Given the description of an element on the screen output the (x, y) to click on. 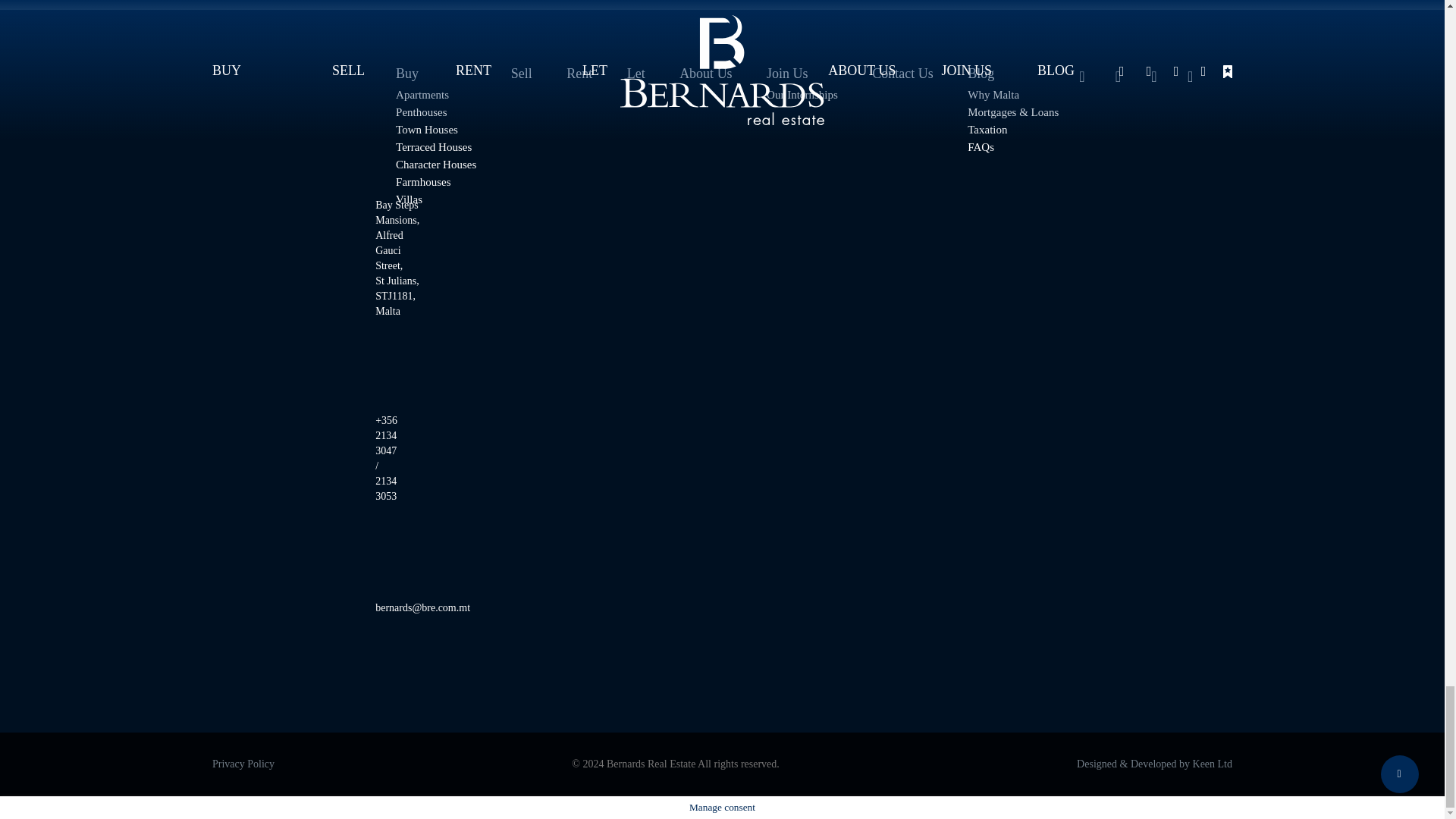
Apartments (436, 94)
Town Houses (436, 129)
Penthouses (436, 112)
Buy (436, 73)
